Given the description of an element on the screen output the (x, y) to click on. 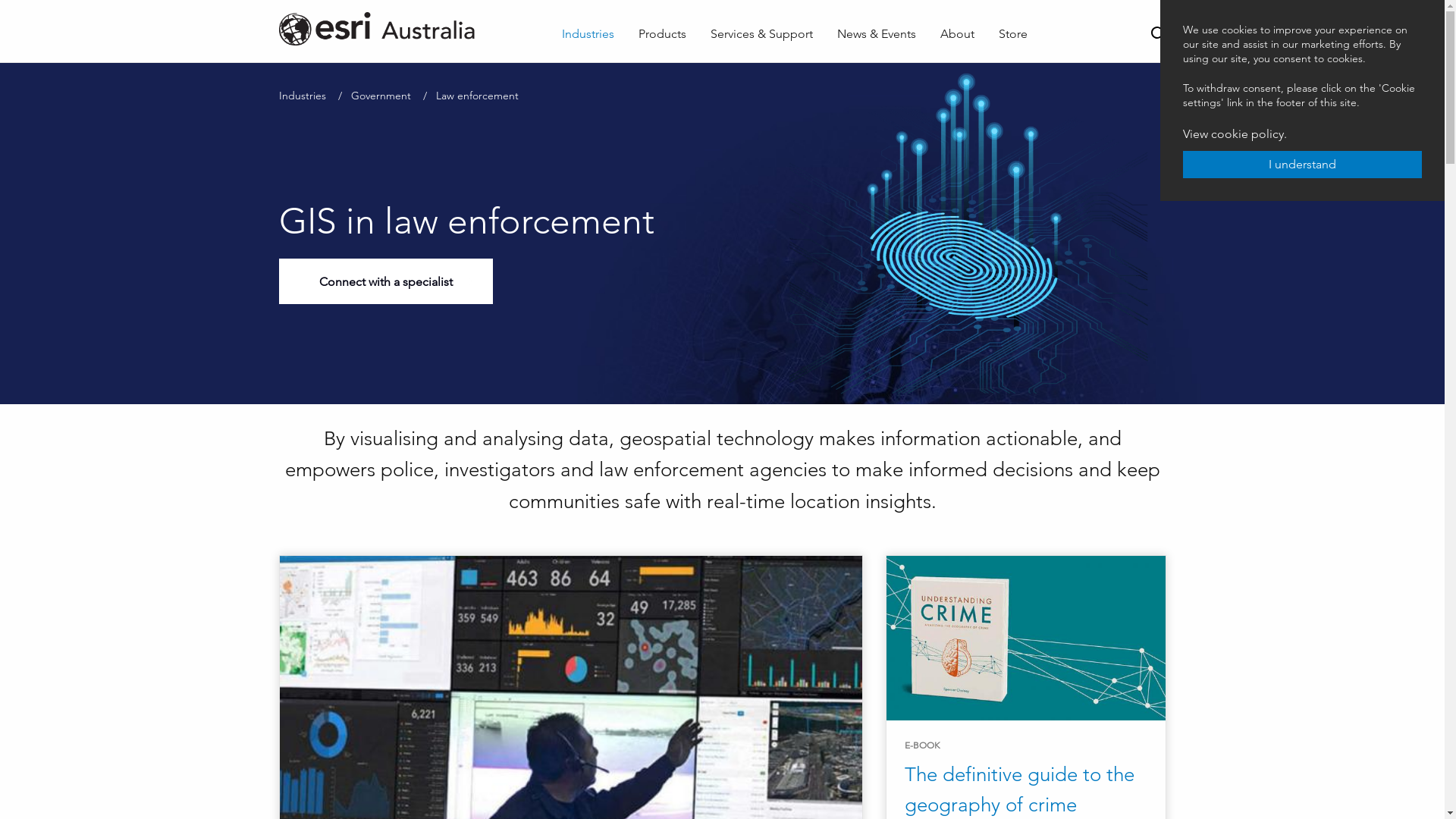
View cookie policy. Element type: text (1234, 133)
News & Events Element type: text (876, 33)
Home Element type: hover (403, 28)
Industries Element type: text (587, 33)
About Element type: text (957, 33)
Industries Element type: text (302, 95)
Products Element type: text (662, 33)
Government Element type: text (380, 95)
Skip to main content Element type: text (0, 0)
I understand Element type: text (1302, 164)
Law enforcement Element type: text (476, 95)
Services & Support Element type: text (761, 33)
Connect with a specialist Element type: text (385, 281)
Store Element type: text (1012, 33)
